Given the description of an element on the screen output the (x, y) to click on. 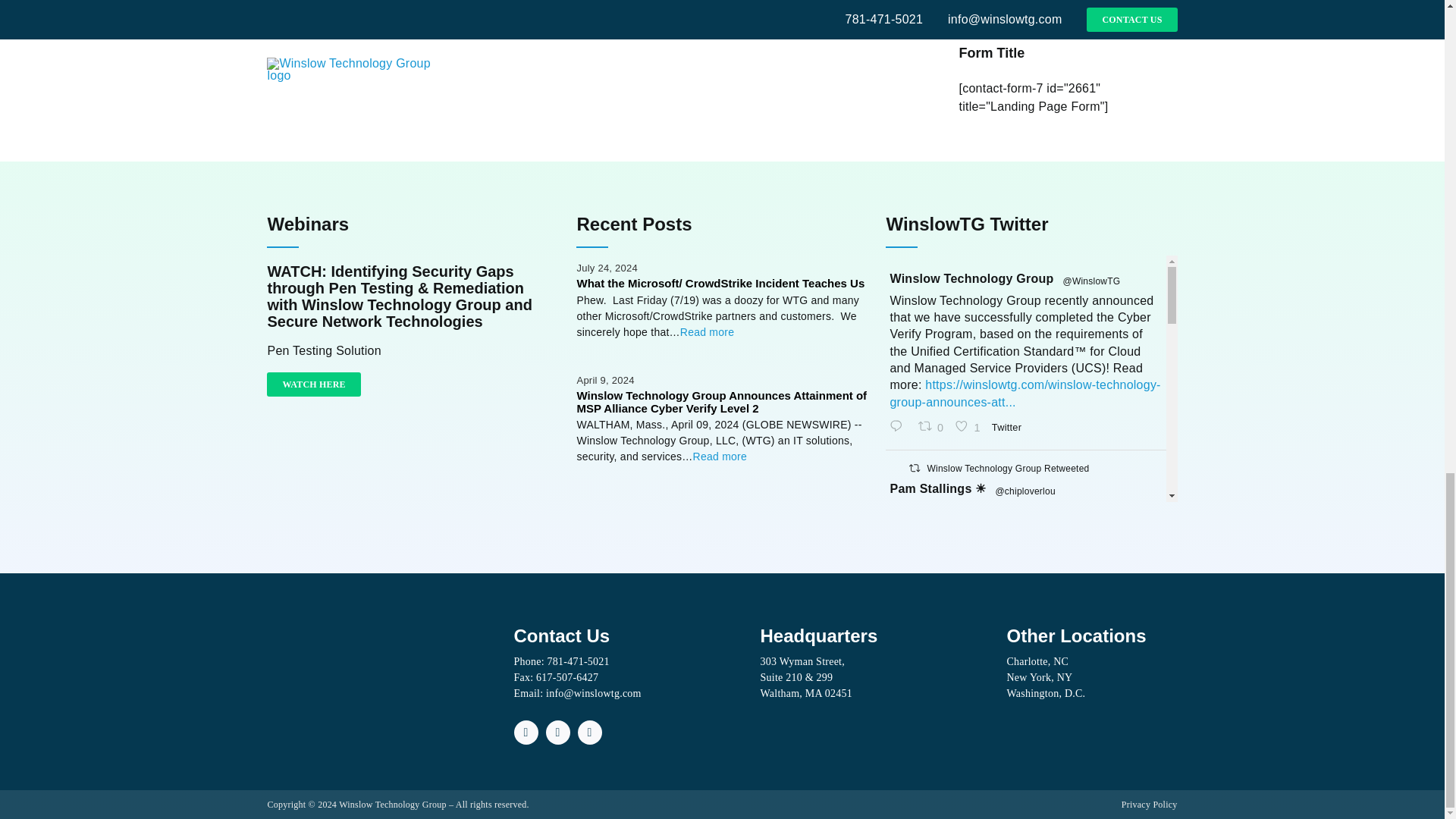
YouTube (558, 732)
X (525, 732)
LinkedIn (590, 732)
